Given the description of an element on the screen output the (x, y) to click on. 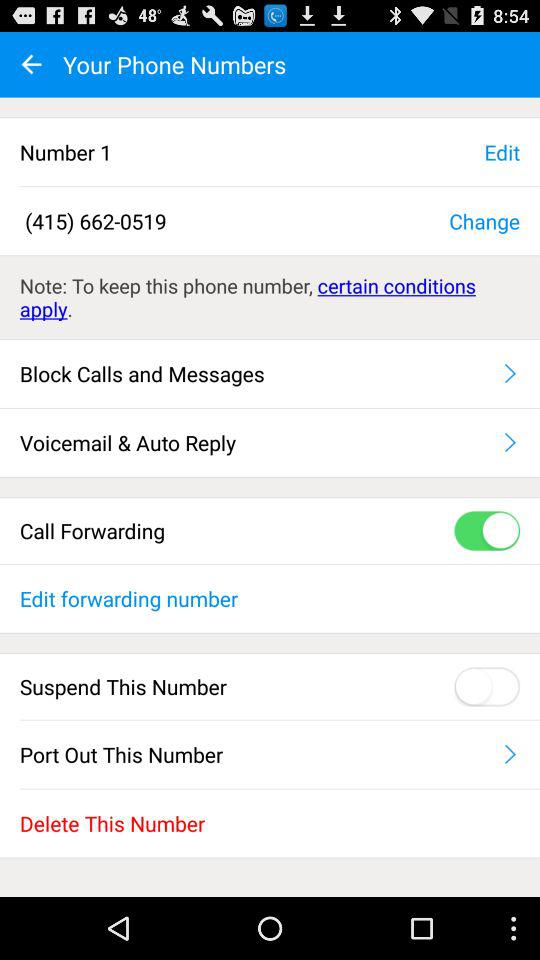
select the app to the right of  (415) 662-0519 (484, 220)
